Given the description of an element on the screen output the (x, y) to click on. 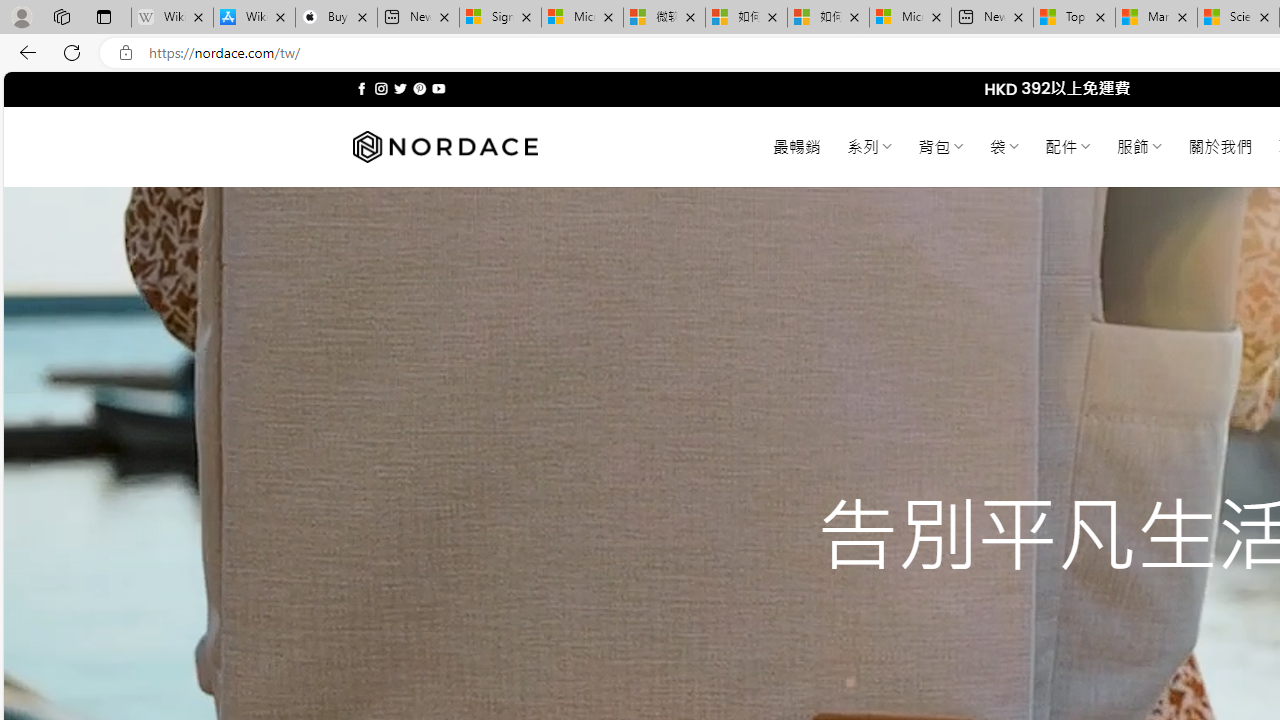
Sign in to your Microsoft account (500, 17)
Marine life - MSN (1156, 17)
Follow on YouTube (438, 88)
